Given the description of an element on the screen output the (x, y) to click on. 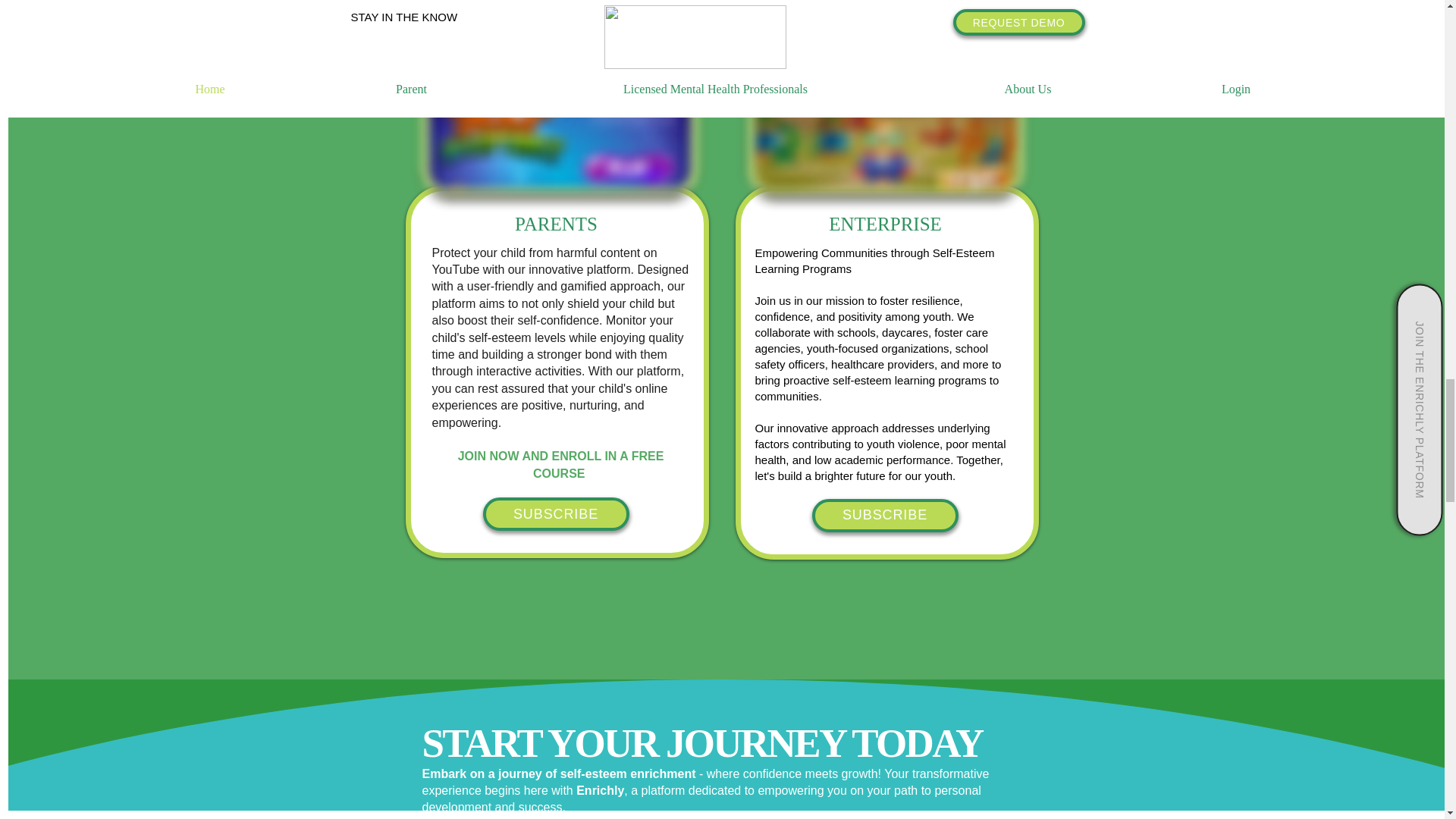
SUBSCRIBE (554, 513)
SUBSCRIBE (884, 515)
